Given the description of an element on the screen output the (x, y) to click on. 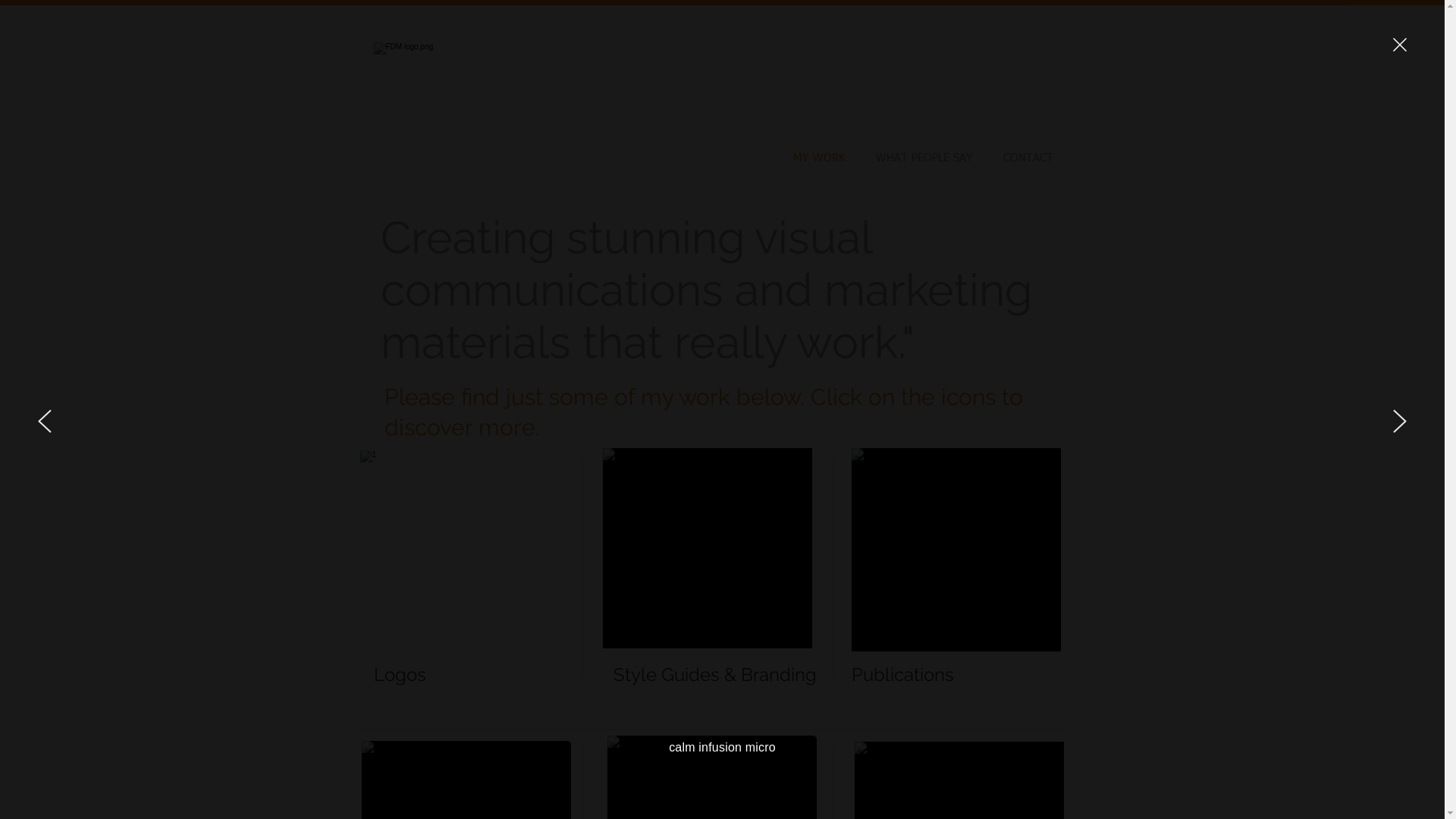
WHAT PEOPLE SAY Element type: text (923, 158)
MY WORK Element type: text (819, 158)
CONTACT Element type: text (1027, 158)
